Given the description of an element on the screen output the (x, y) to click on. 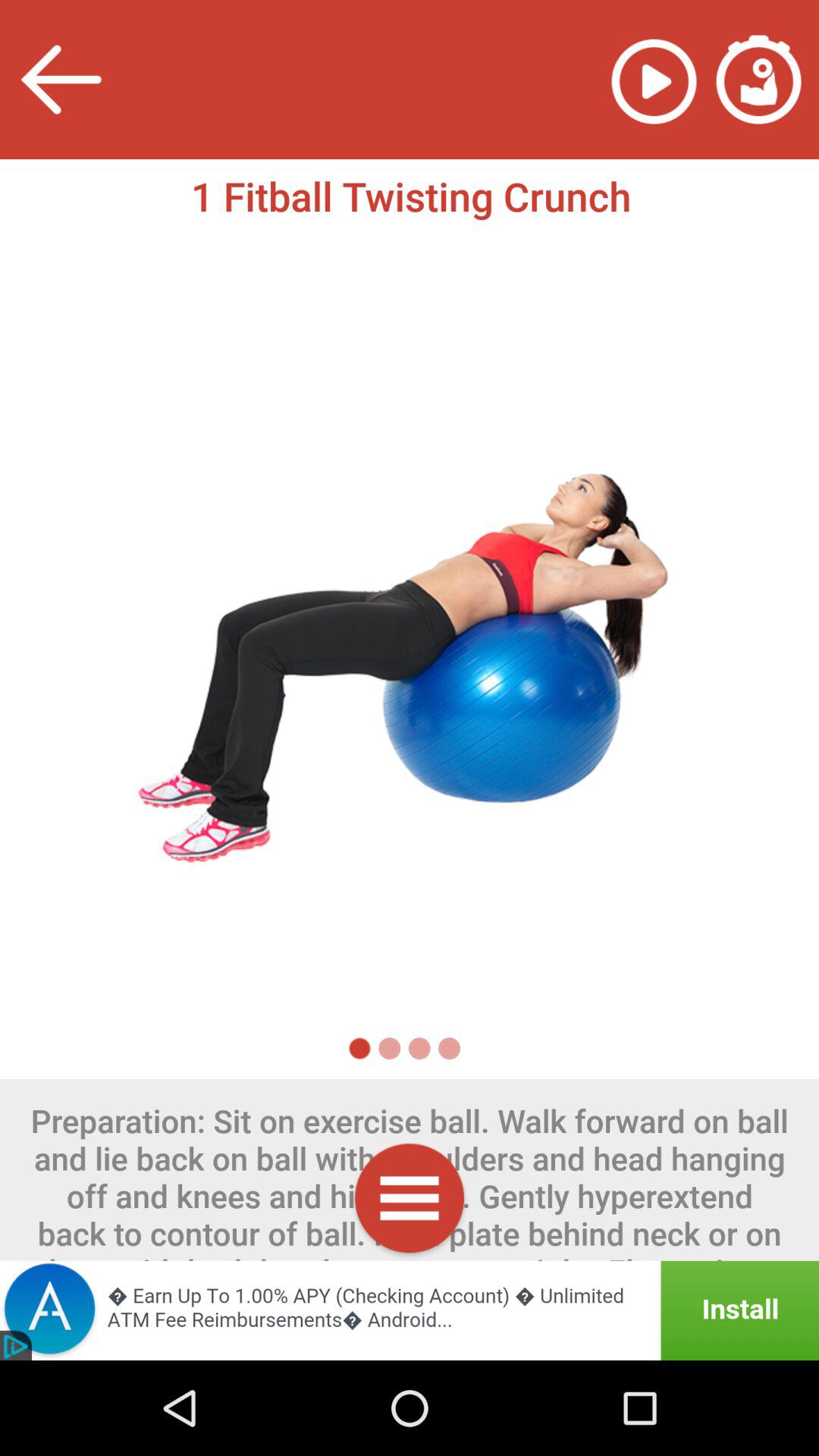
start the video (653, 79)
